Given the description of an element on the screen output the (x, y) to click on. 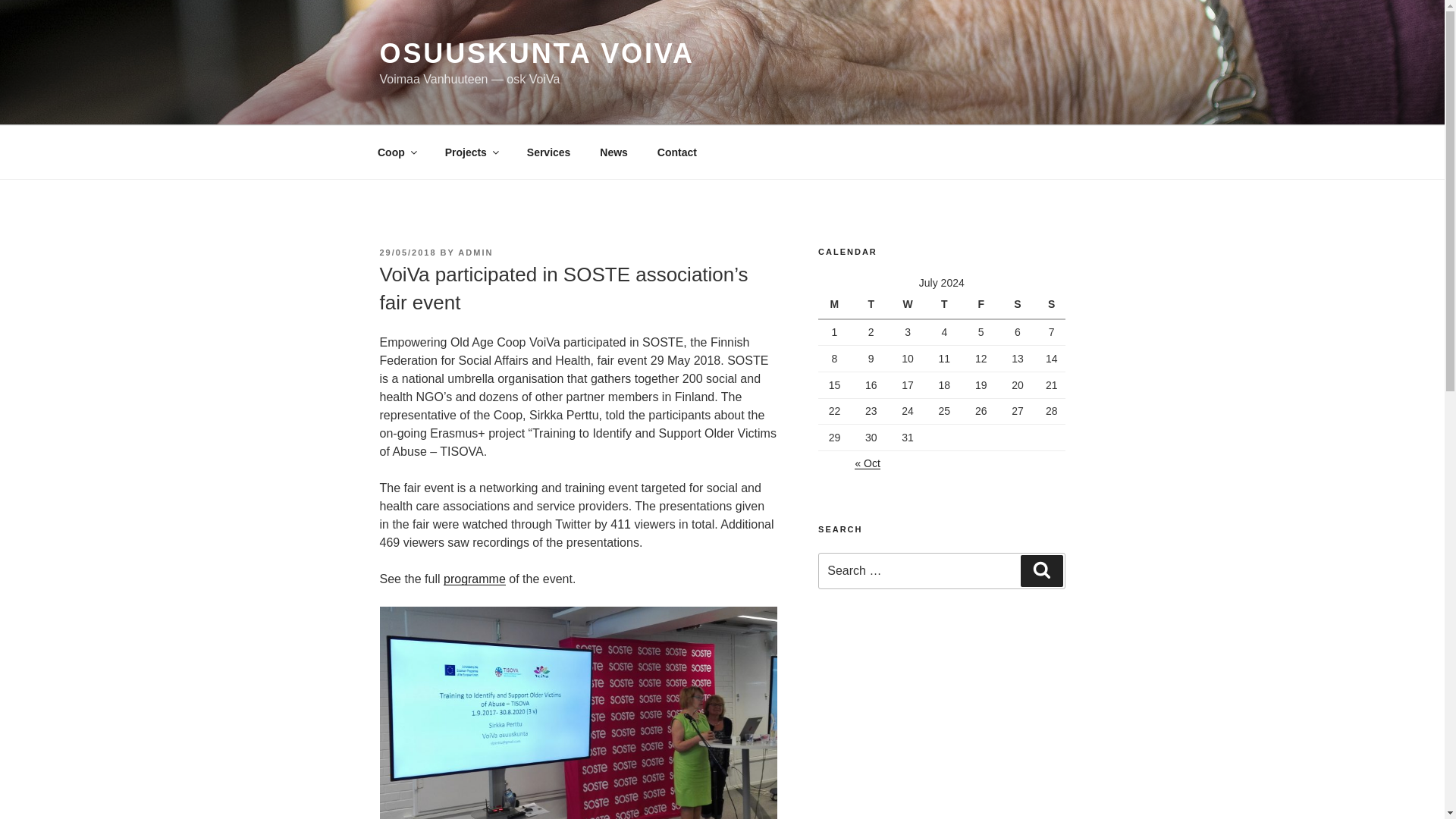
Thursday (945, 305)
Friday (982, 305)
Search (1041, 571)
Services (548, 151)
Sunday (1051, 305)
Coop (396, 151)
News (614, 151)
Saturday (1019, 305)
Projects (470, 151)
ADMIN (475, 252)
programme (474, 578)
Contact (676, 151)
OSUUSKUNTA VOIVA (536, 52)
Wednesday (909, 305)
Monday (836, 305)
